Given the description of an element on the screen output the (x, y) to click on. 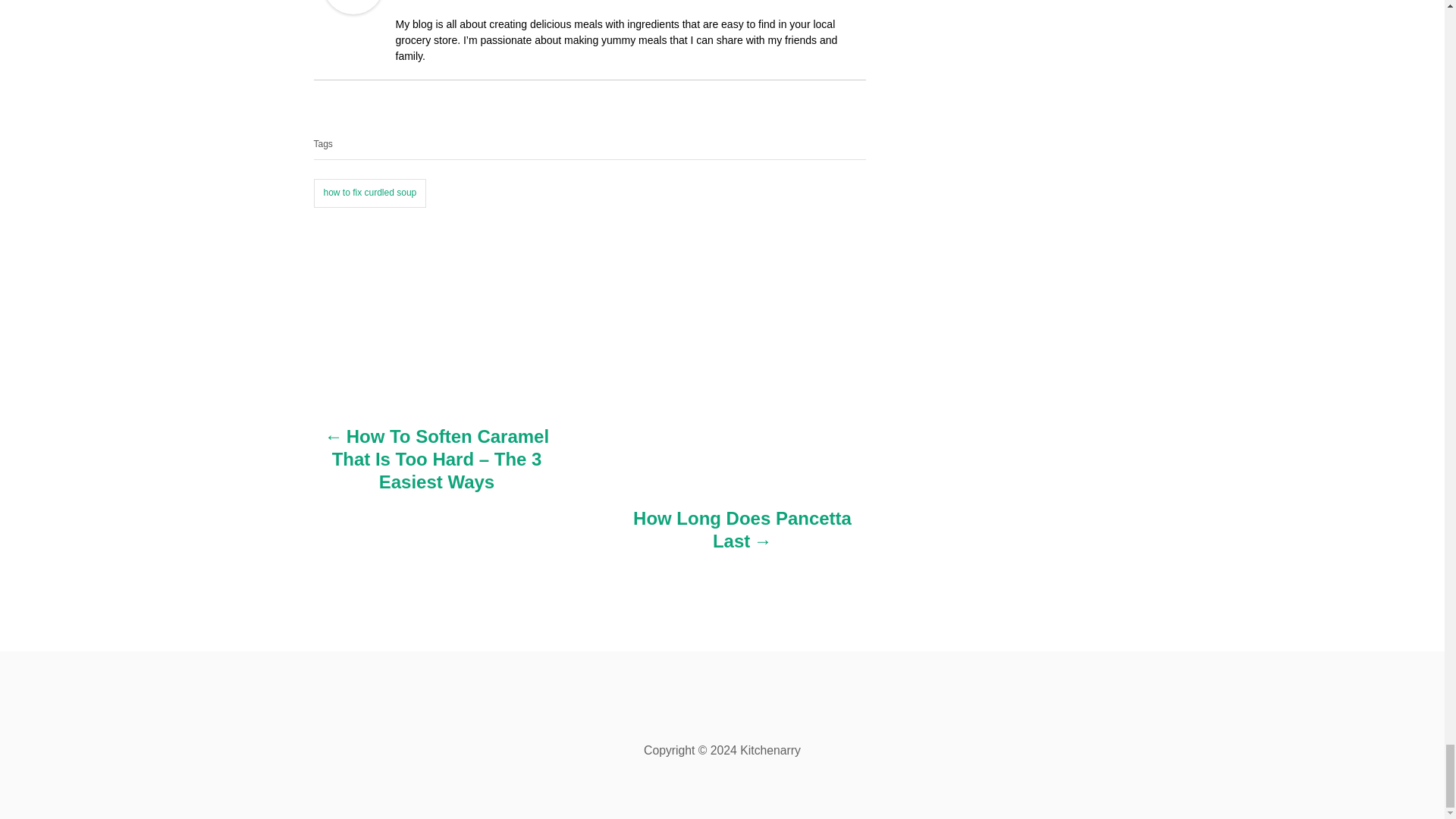
Linda Williams (353, 9)
